Given the description of an element on the screen output the (x, y) to click on. 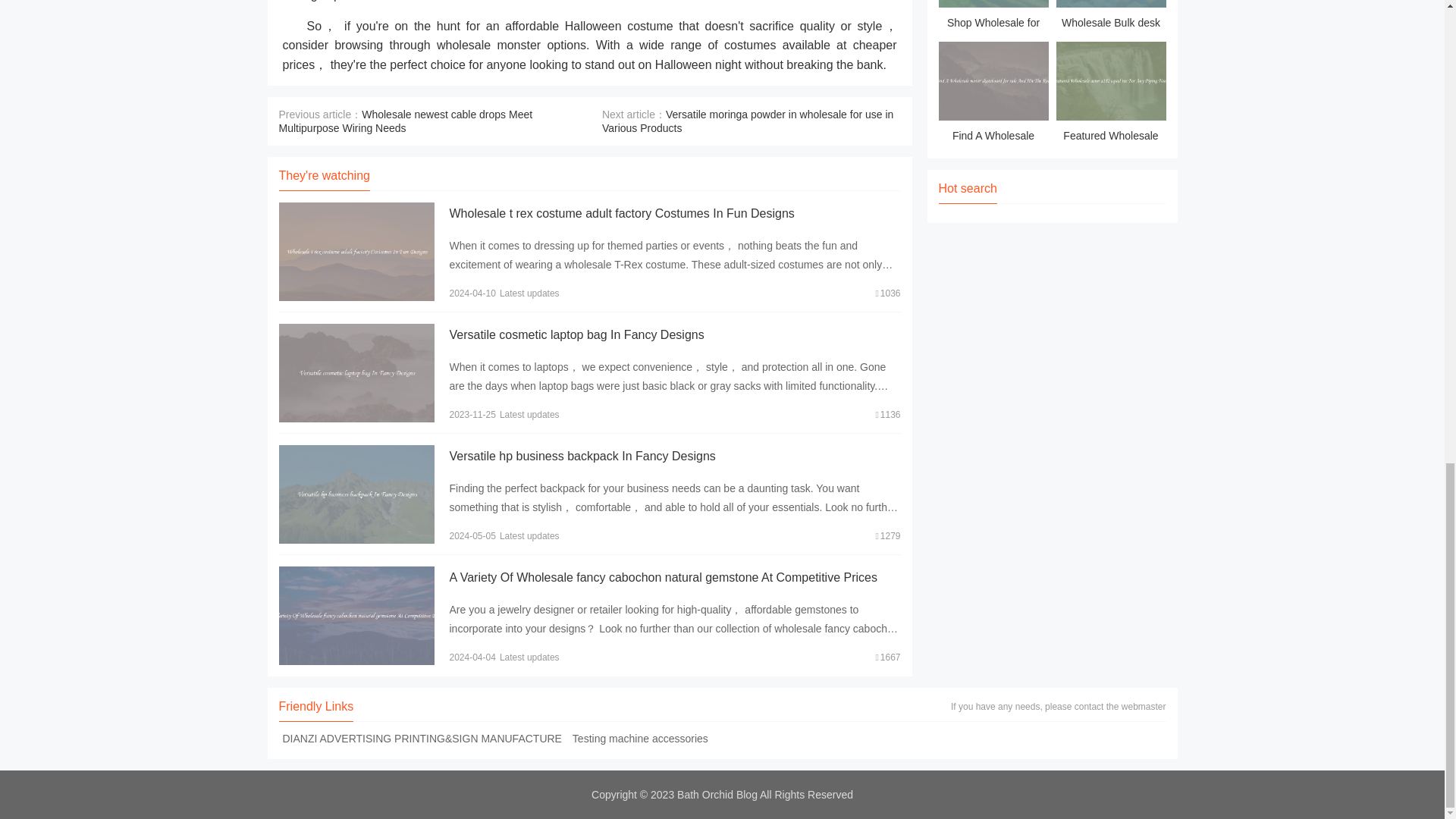
Find A Wholesale motor skateboard for sale And Hit The Road (993, 94)
Versatile hp business backpack In Fancy Designs (581, 455)
Testing machine accessories (640, 738)
Versatile cosmetic laptop bag In Fancy Designs (575, 334)
Featured Wholesale astm a182 equal tee For Any Piping Needs (1110, 94)
Wholesale newest cable drops Meet Multipurpose Wiring Needs (405, 121)
Wholesale Bulk desk plastics material Supplier At Low Prices (1110, 17)
